Given the description of an element on the screen output the (x, y) to click on. 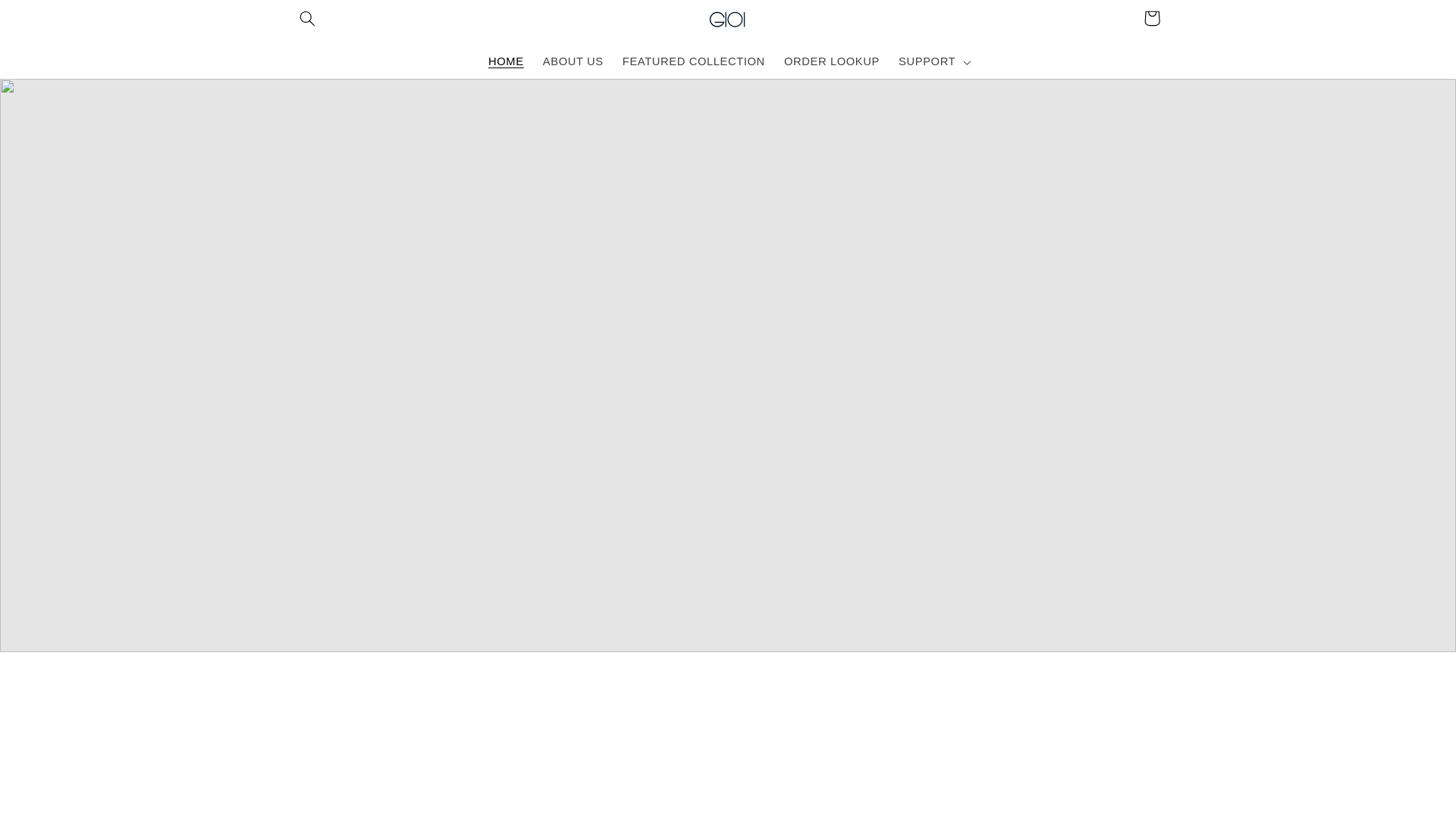
HOME (505, 61)
ORDER LOOKUP (831, 61)
FEATURED COLLECTION (693, 61)
ABOUT US (572, 61)
Cart (1151, 18)
Skip to content (48, 18)
